Given the description of an element on the screen output the (x, y) to click on. 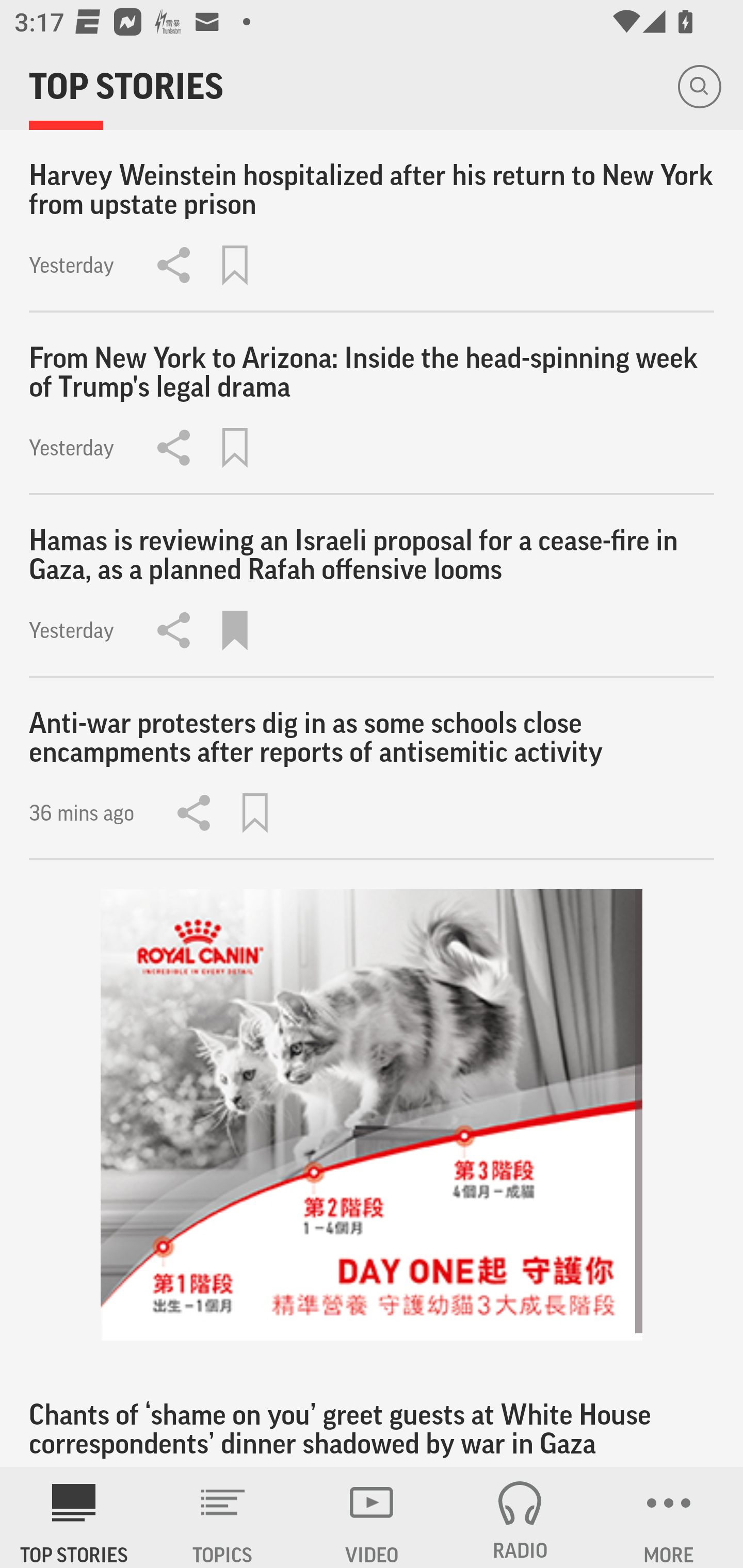
AP News TOP STORIES (74, 1517)
TOPICS (222, 1517)
VIDEO (371, 1517)
RADIO (519, 1517)
MORE (668, 1517)
